Given the description of an element on the screen output the (x, y) to click on. 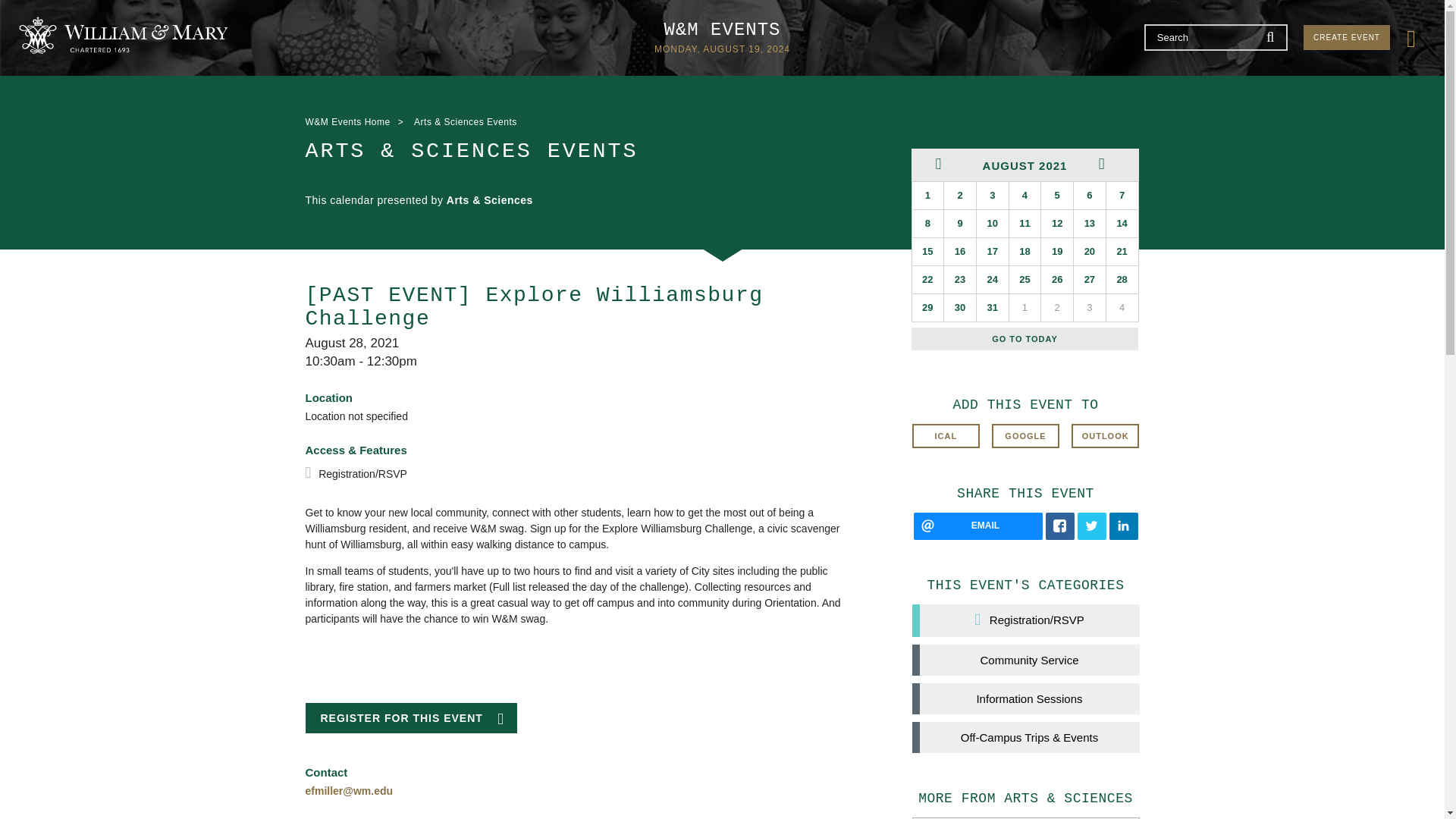
AUGUST 2021 (1024, 164)
NEXT MONTH (1106, 163)
6 (1089, 195)
Submit Search (1270, 36)
11 (1025, 222)
2 (959, 195)
8 (927, 222)
CREATE EVENT (1346, 37)
7 (1122, 195)
